Given the description of an element on the screen output the (x, y) to click on. 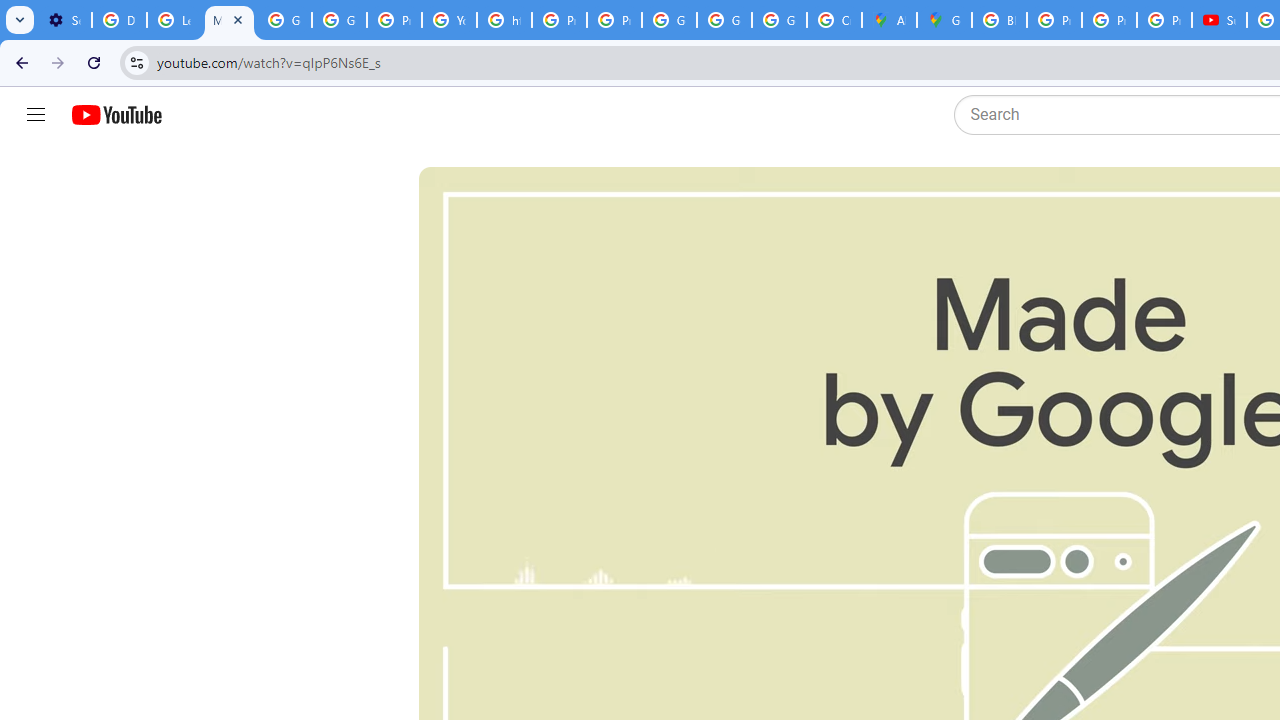
Blogger Policies and Guidelines - Transparency Center (998, 20)
YouTube (449, 20)
Google Maps (943, 20)
Settings - Customize profile (64, 20)
Learn how to find your photos - Google Photos Help (174, 20)
https://scholar.google.com/ (504, 20)
Subscriptions - YouTube (1218, 20)
Privacy Help Center - Policies Help (1108, 20)
Privacy Help Center - Policies Help (559, 20)
